Given the description of an element on the screen output the (x, y) to click on. 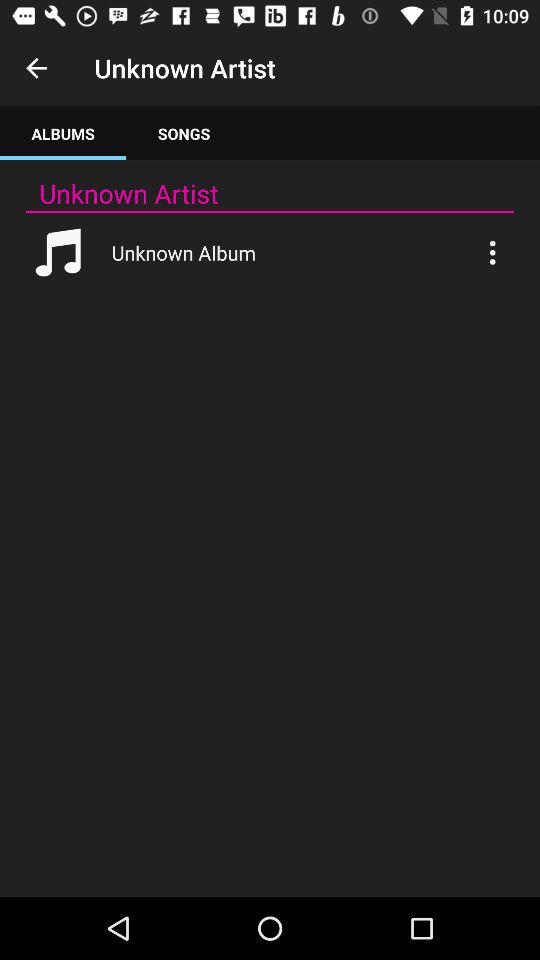
turn on item to the left of songs app (63, 133)
